Given the description of an element on the screen output the (x, y) to click on. 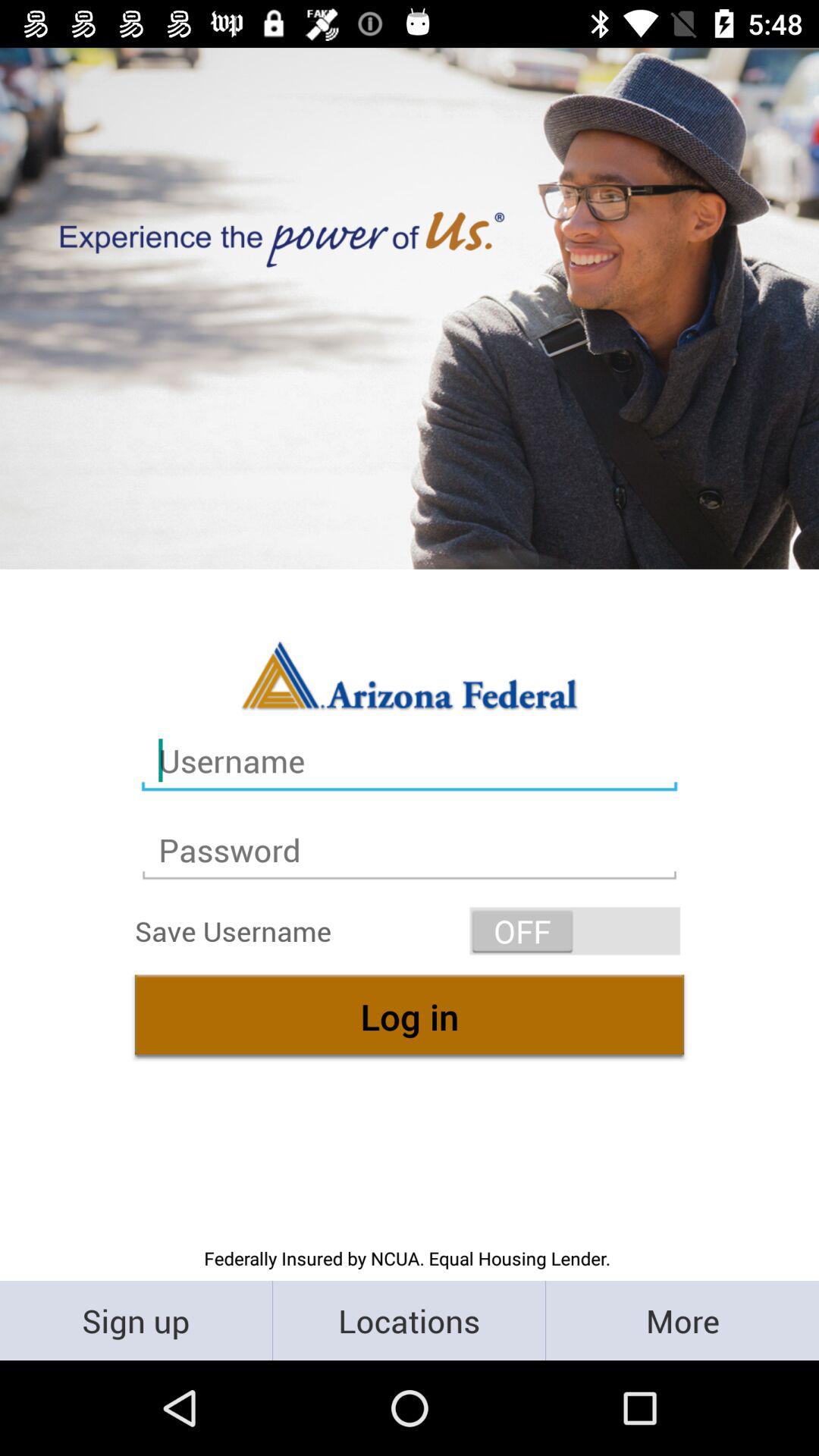
turn off the item above log in (574, 930)
